Given the description of an element on the screen output the (x, y) to click on. 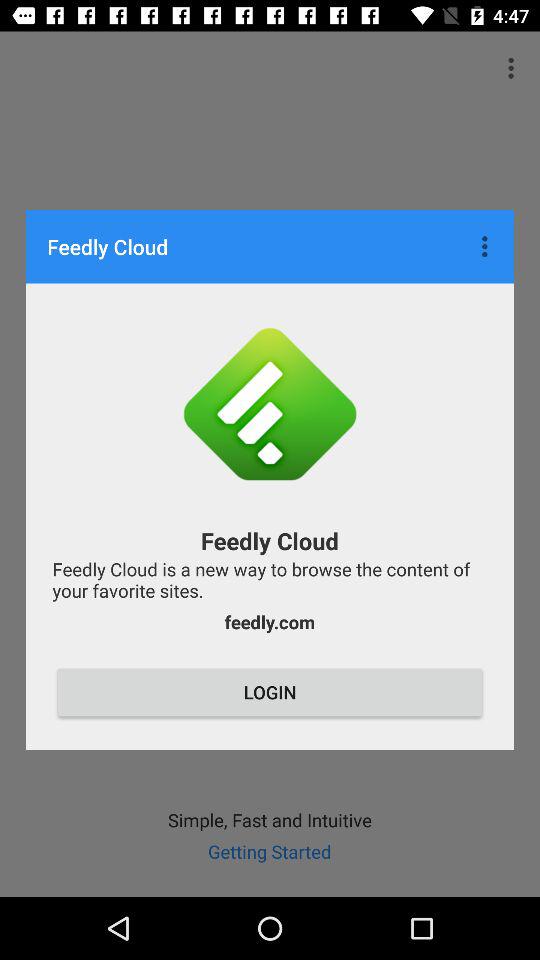
click feedly.com icon (269, 621)
